Given the description of an element on the screen output the (x, y) to click on. 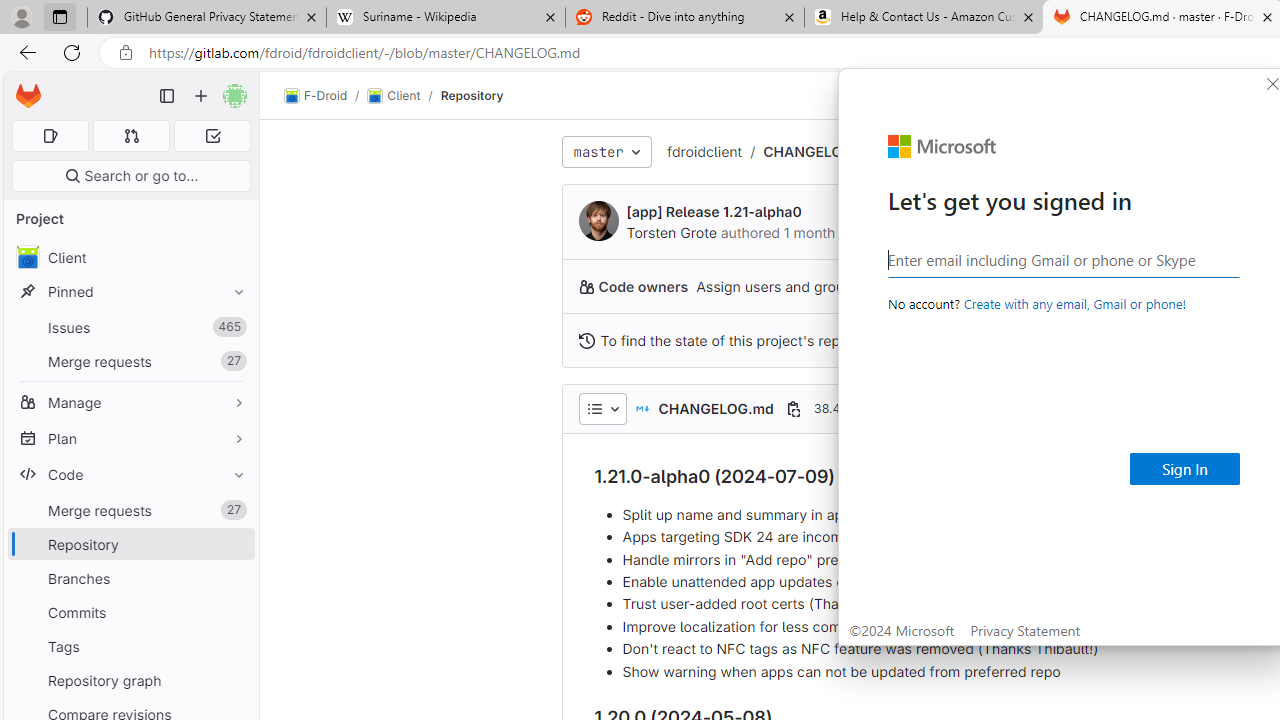
Skip to main content (23, 87)
fdroidclient (703, 151)
Create with any email, Gmail or phone! (1074, 303)
Commits (130, 612)
fdroidclient (703, 151)
F-Droid/ (326, 96)
Branches (130, 578)
Client (394, 96)
Commits (130, 612)
Tags (130, 646)
Pin Commits (234, 611)
Pin Tags (234, 646)
GitHub General Privacy Statement - GitHub Docs (207, 17)
